Given the description of an element on the screen output the (x, y) to click on. 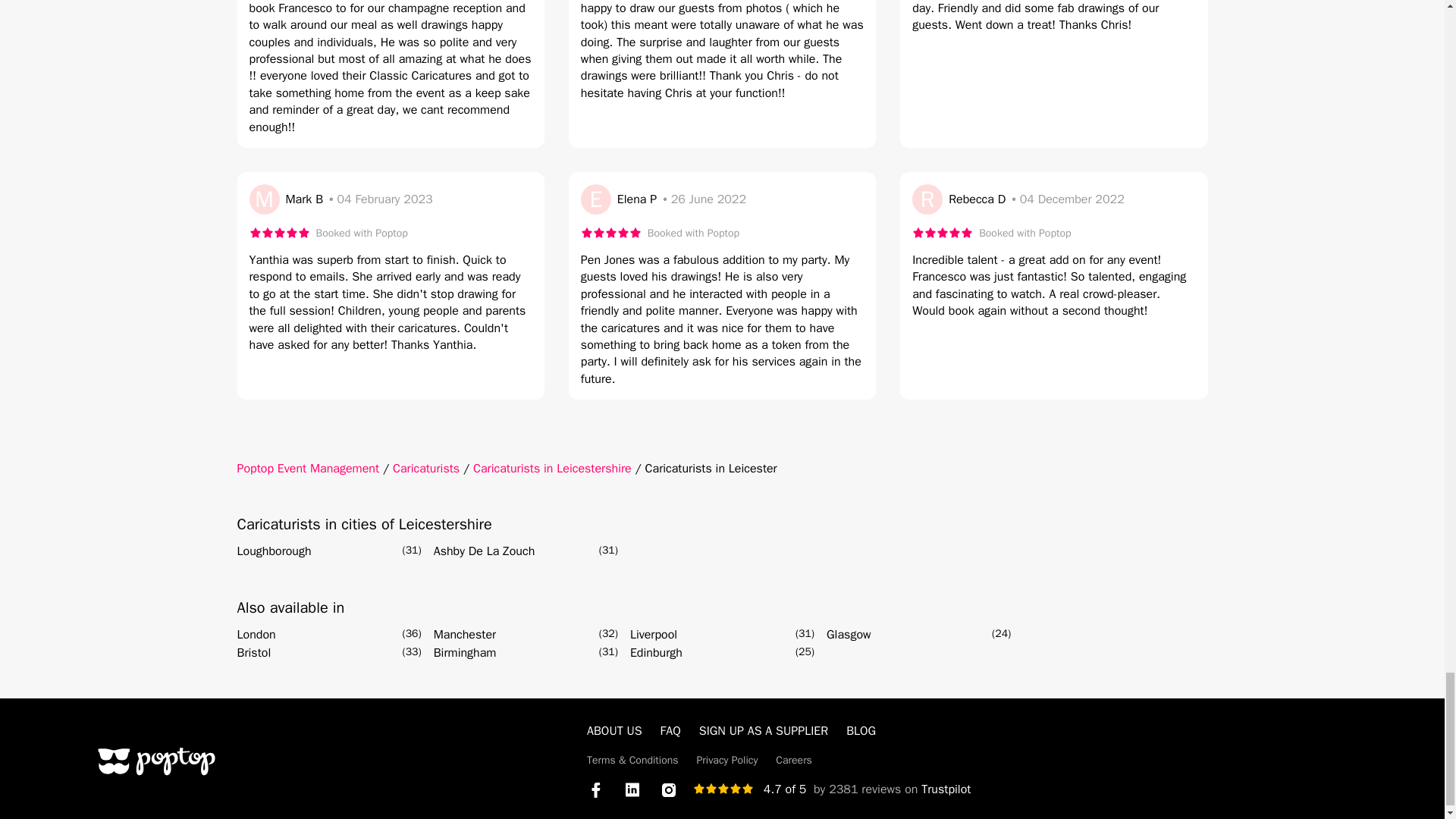
Caricaturists (426, 468)
FAQ (671, 730)
Poptop Event Management (306, 468)
London (255, 634)
Trustpilot (946, 789)
Ashby De La Zouch (484, 551)
Caricaturists in Leicestershire (552, 468)
Glasgow (848, 634)
Loughborough (273, 551)
Privacy Policy (727, 759)
Careers (794, 759)
SIGN UP AS A SUPPLIER (763, 730)
Bristol (252, 652)
Liverpool (653, 634)
BLOG (860, 730)
